Given the description of an element on the screen output the (x, y) to click on. 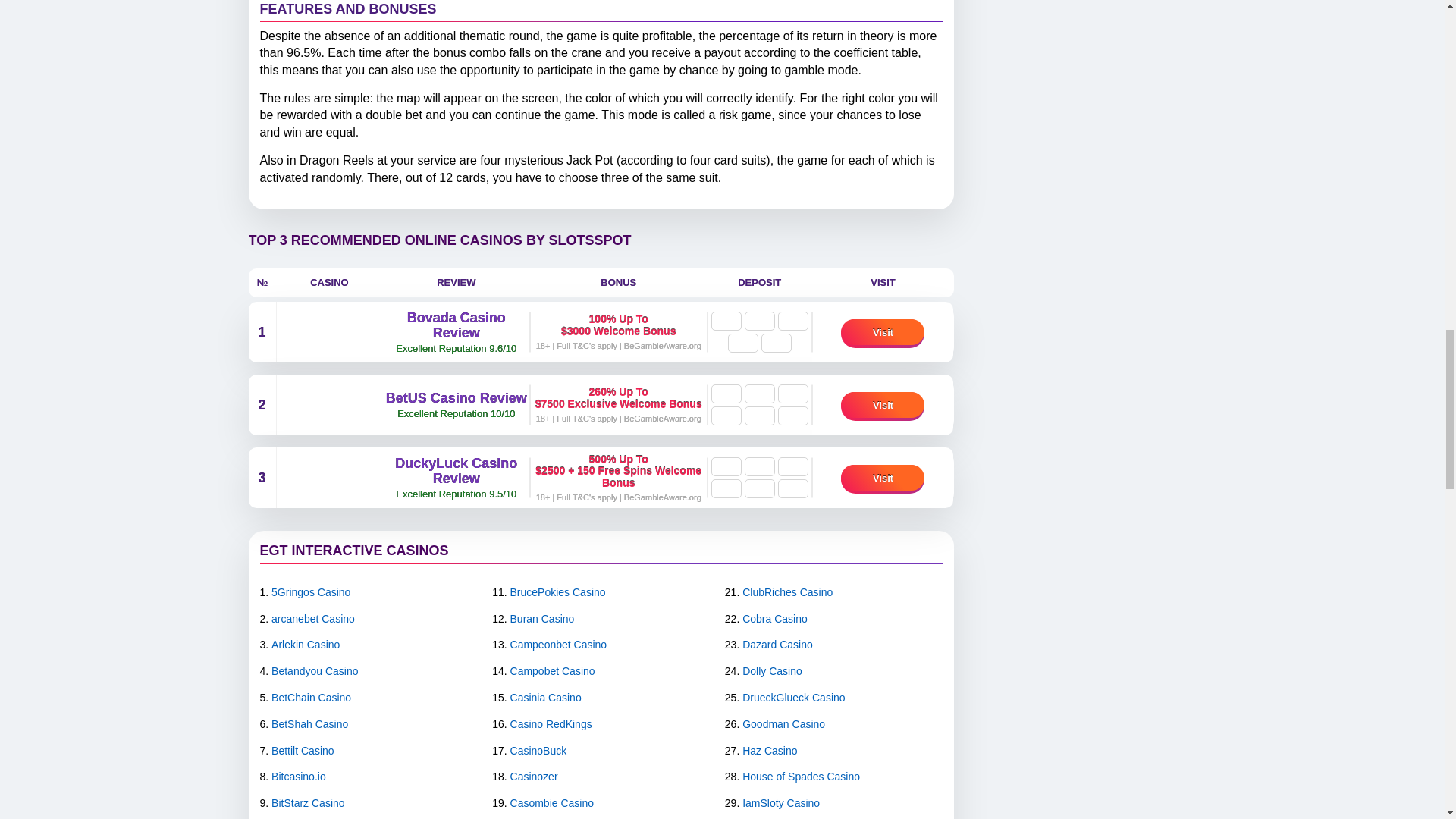
Visa (792, 466)
Bitcoin Cash (759, 415)
Visa (792, 321)
Bitcoin (726, 321)
MasterCard (743, 342)
Bitcoin (726, 415)
Credit Cards (726, 393)
Bitcoin Cash (759, 321)
